Given the description of an element on the screen output the (x, y) to click on. 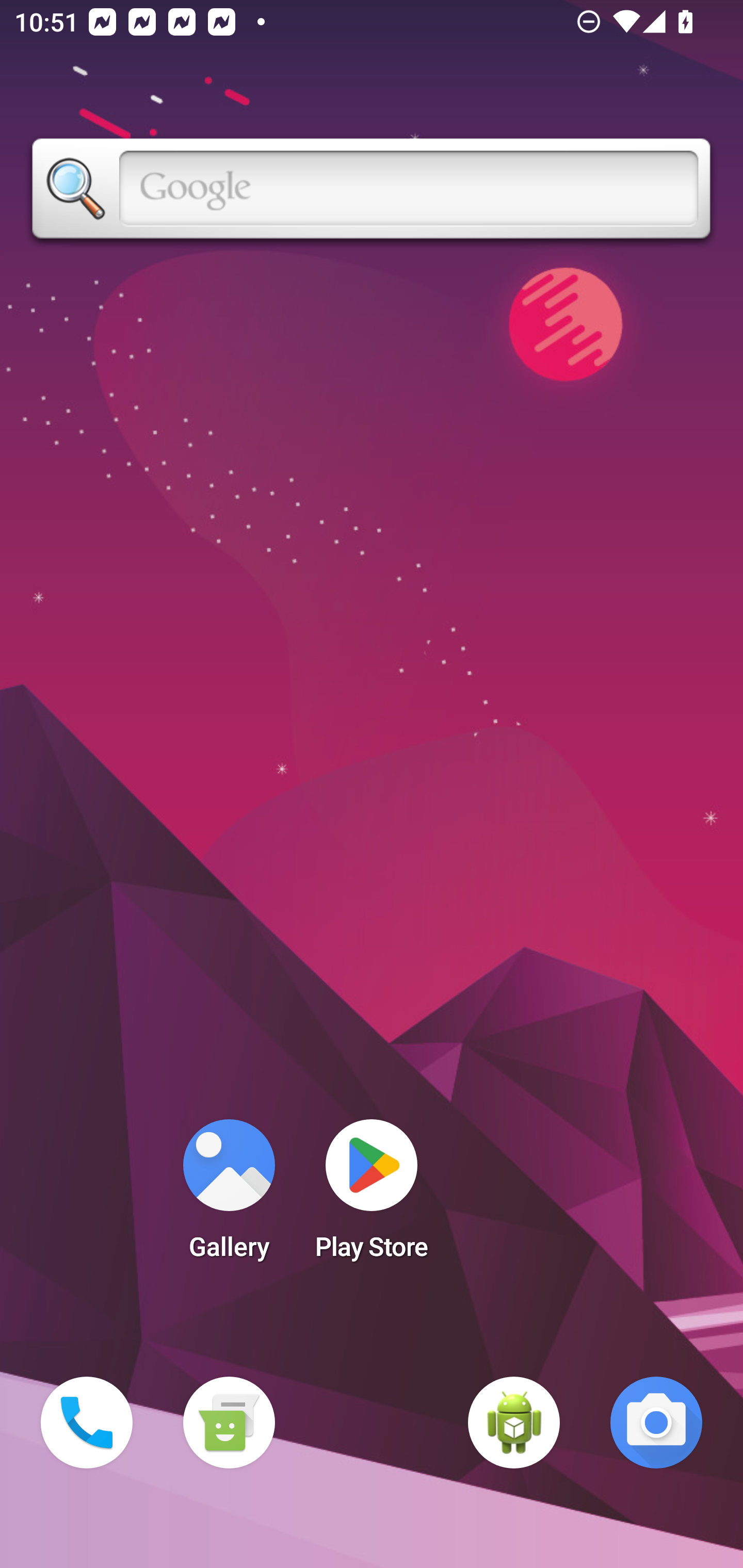
Gallery (228, 1195)
Play Store (371, 1195)
Phone (86, 1422)
Messaging (228, 1422)
WebView Browser Tester (513, 1422)
Camera (656, 1422)
